Given the description of an element on the screen output the (x, y) to click on. 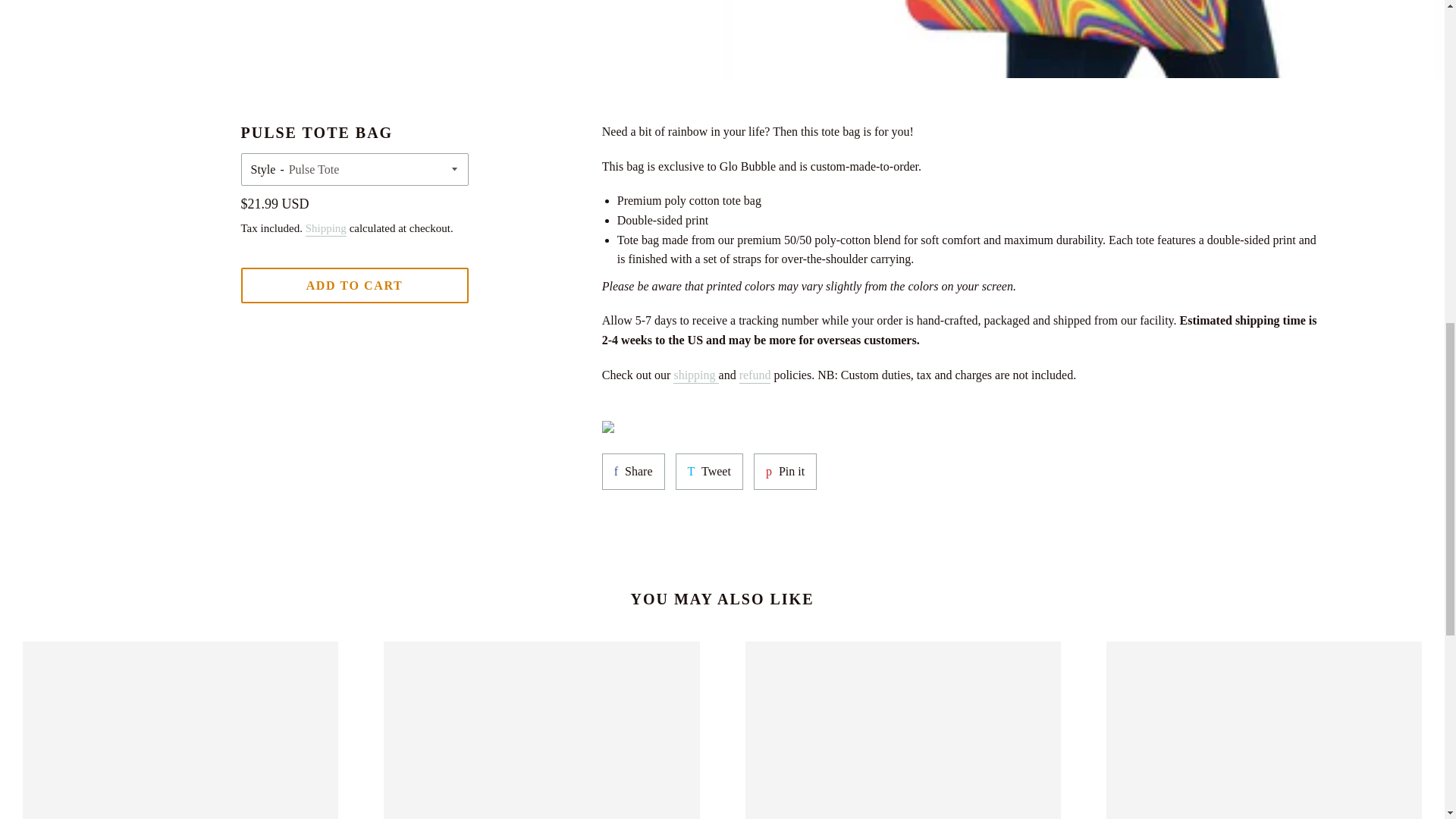
refund (708, 471)
ADD TO CART (755, 376)
Refund policy (354, 285)
Shipping (755, 376)
Shipping (325, 228)
Share on Facebook (694, 376)
Pin on Pinterest (633, 471)
